Given the description of an element on the screen output the (x, y) to click on. 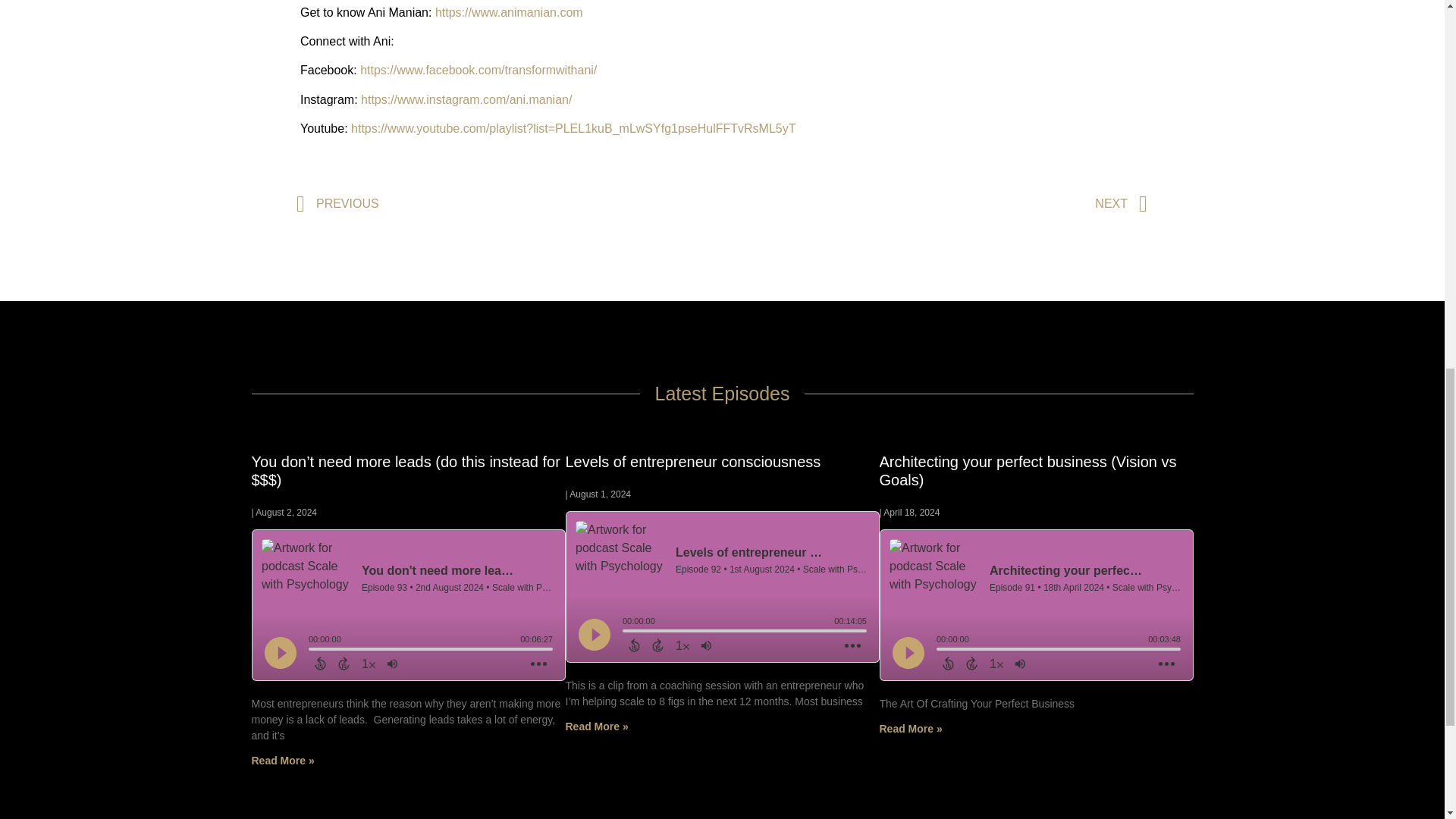
www.animanian.com (527, 11)
Levels of entrepreneur consciousness (693, 461)
NEXT (934, 204)
PREVIOUS (509, 204)
